Given the description of an element on the screen output the (x, y) to click on. 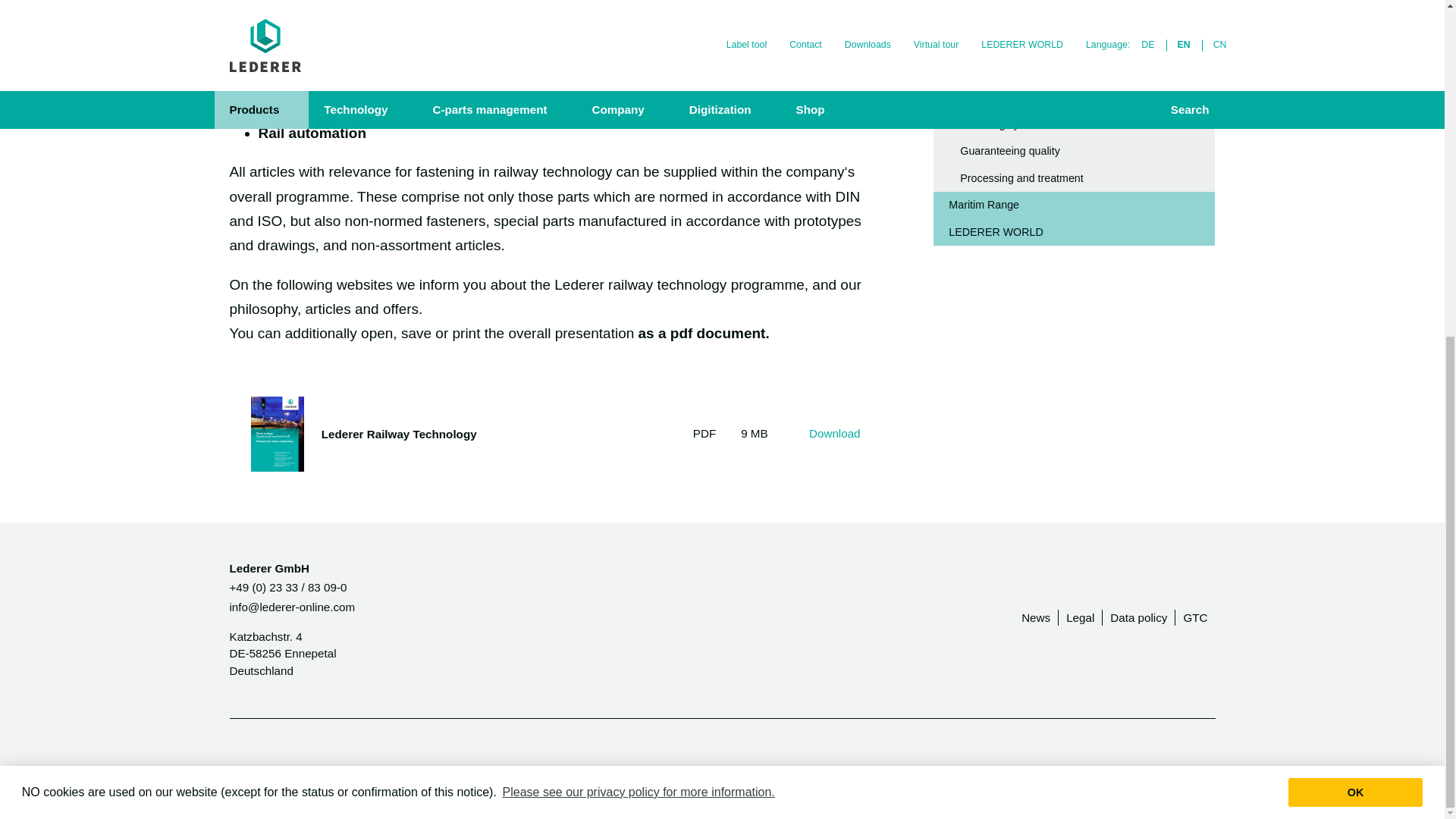
Please see our privacy policy for more information. (638, 225)
OK (1355, 225)
